Given the description of an element on the screen output the (x, y) to click on. 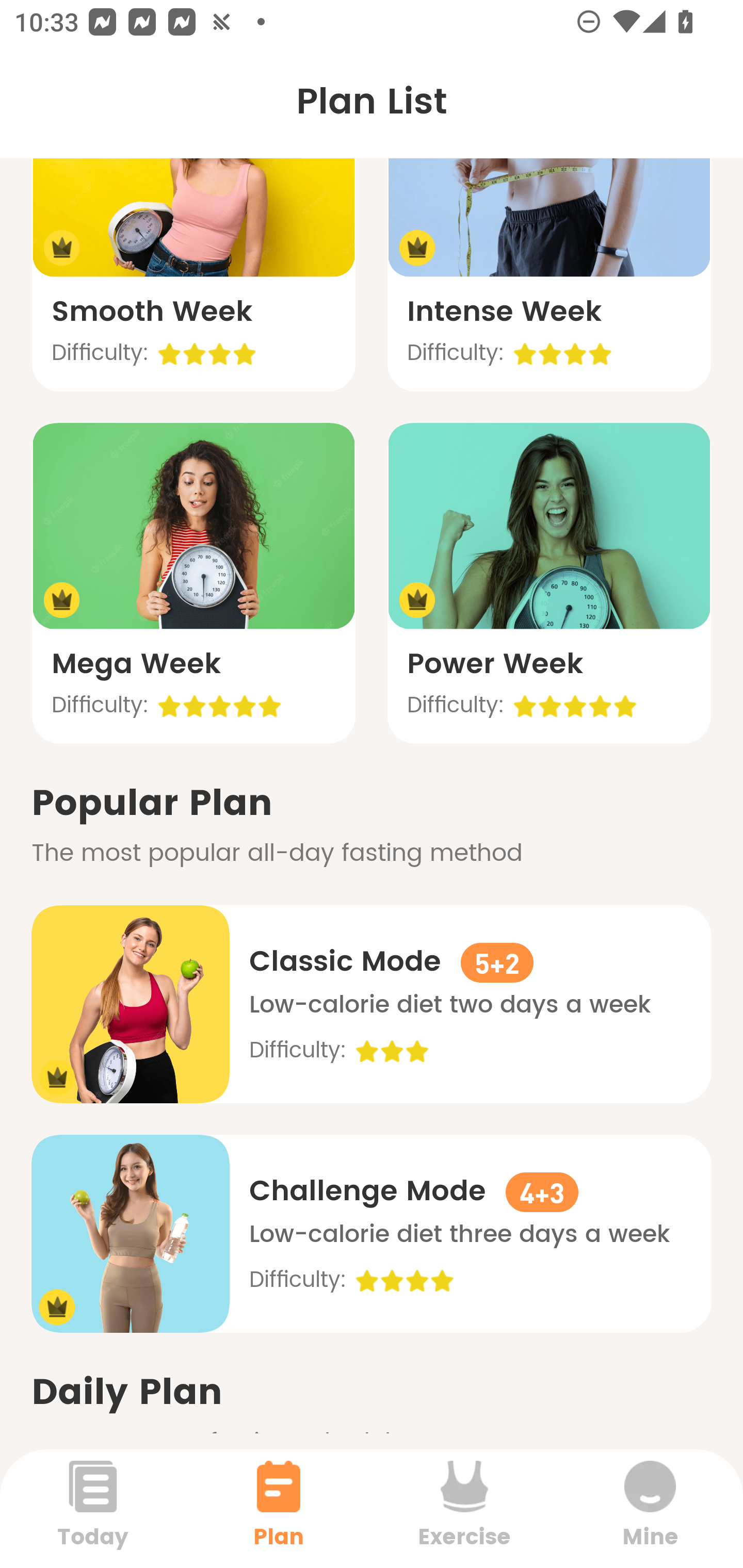
Smooth Week Difficulty: 4.0 (193, 231)
Intense Week Difficulty: 4.0 (549, 231)
Mega Week Difficulty: 5.0 (193, 583)
Power Week Difficulty: 5.0 (549, 583)
Today (92, 1508)
Exercise (464, 1508)
Mine (650, 1508)
